Given the description of an element on the screen output the (x, y) to click on. 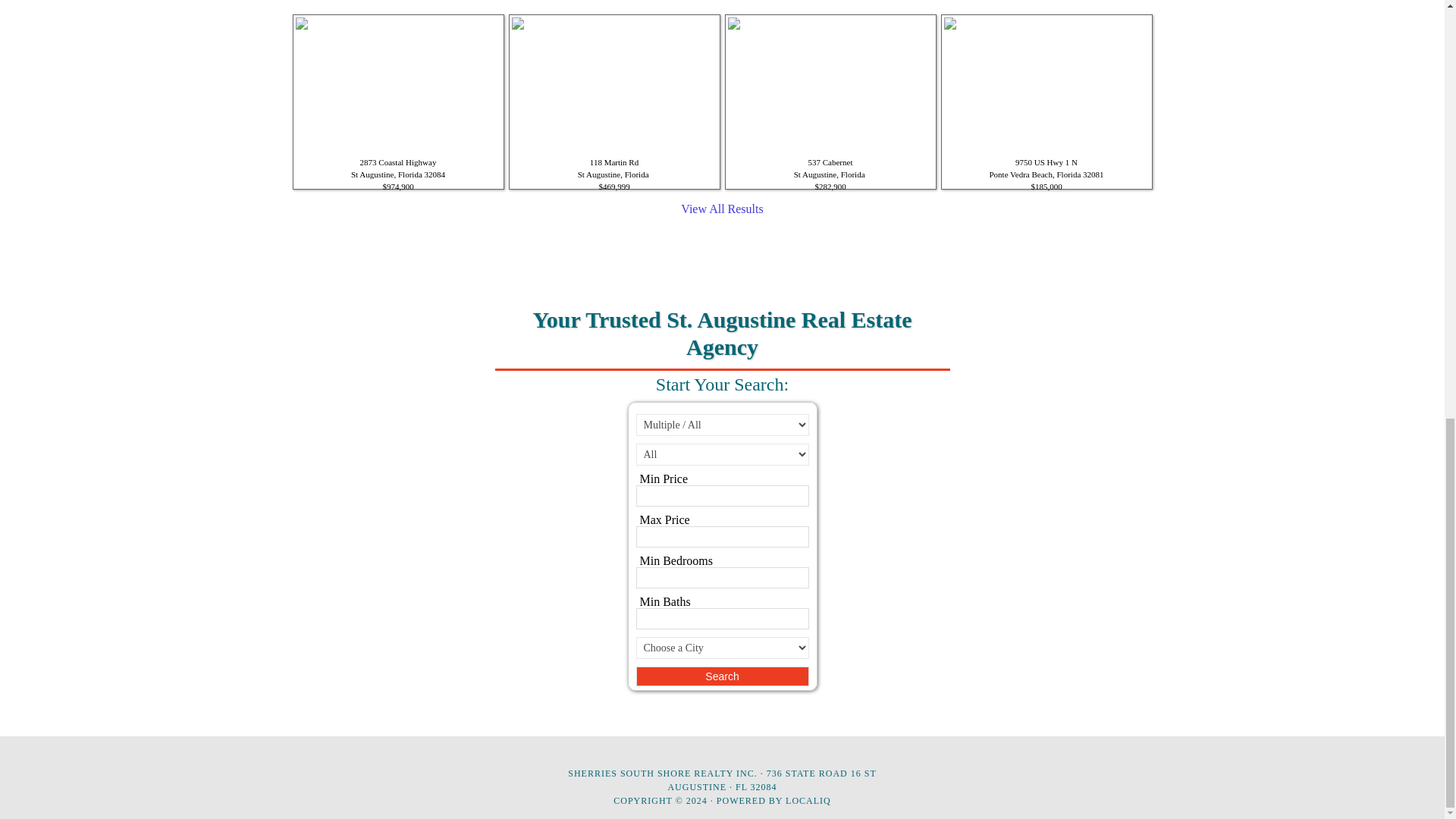
Search (721, 676)
View All Results (721, 208)
LOCALIQ (808, 800)
SHERRIES SOUTH SHORE REALTY INC. (662, 773)
Search (721, 676)
